Given the description of an element on the screen output the (x, y) to click on. 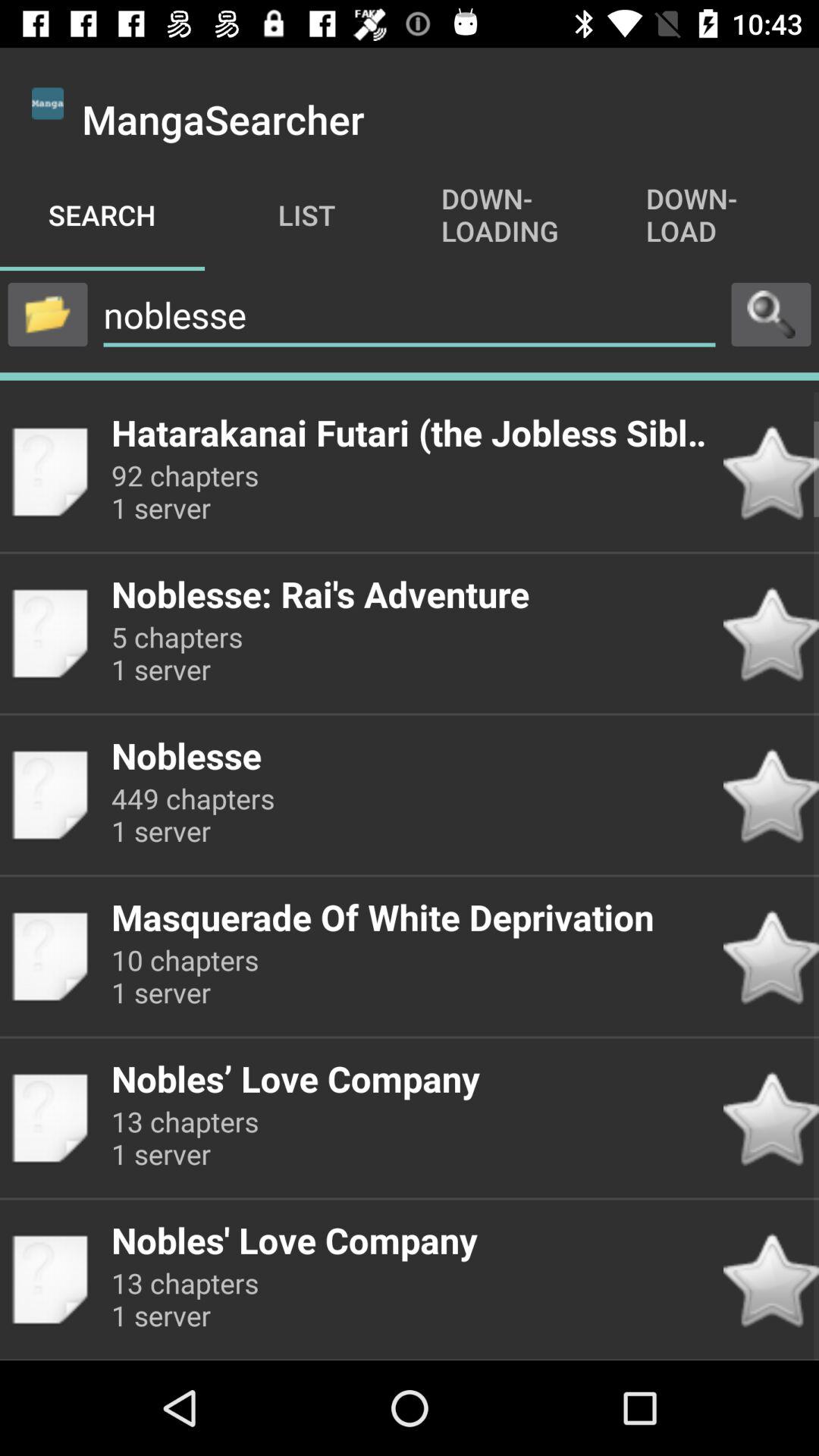
open files (47, 314)
